Given the description of an element on the screen output the (x, y) to click on. 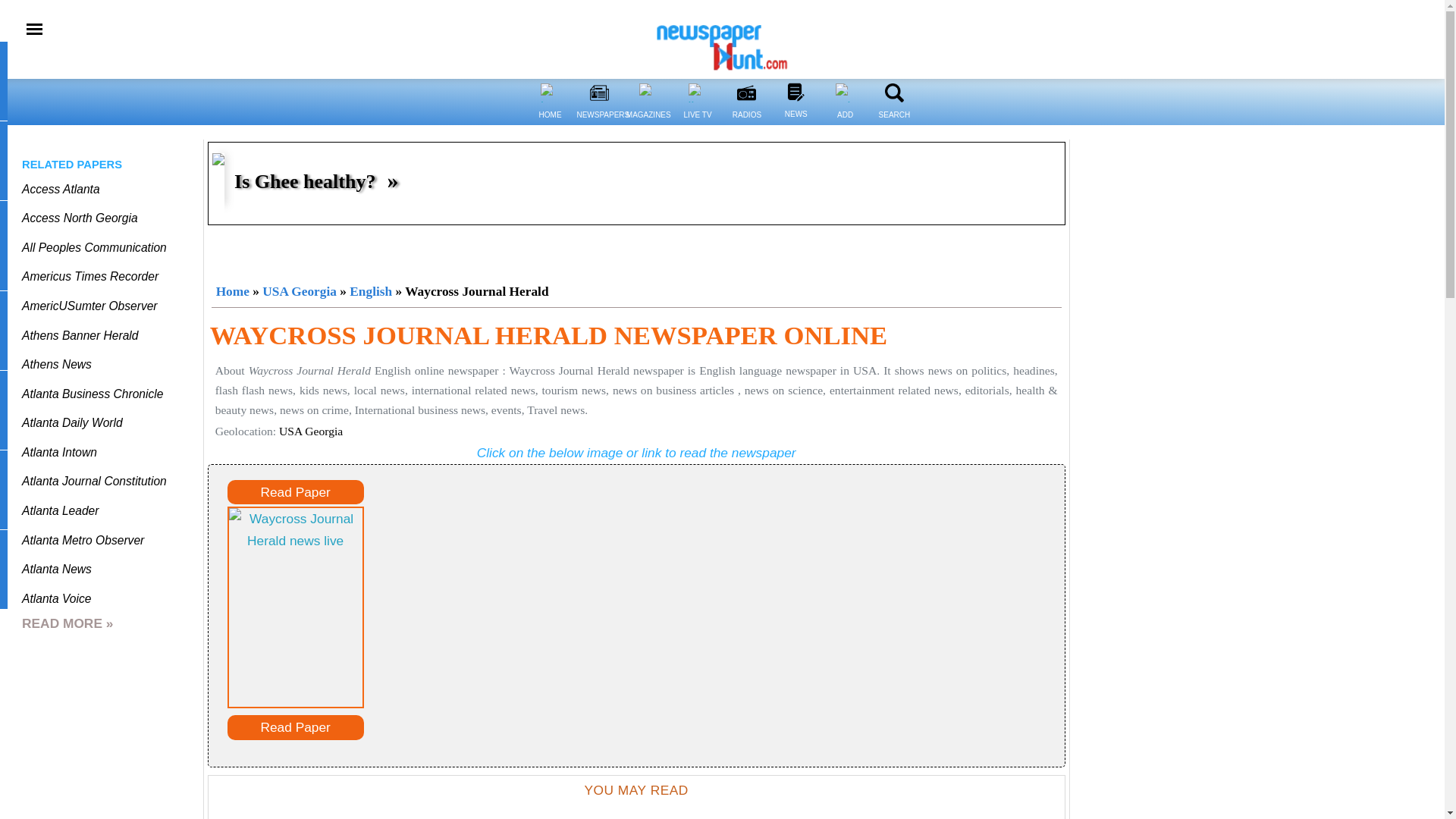
NEWSPAPER (598, 92)
Athens News (56, 364)
SEARCH (893, 124)
Atlanta Intown (59, 451)
ADD (844, 124)
NEWS (795, 91)
Americus Times Recorder (89, 276)
LIVE TV (697, 124)
Atlanta Leader (60, 510)
RADIOS (745, 92)
